Given the description of an element on the screen output the (x, y) to click on. 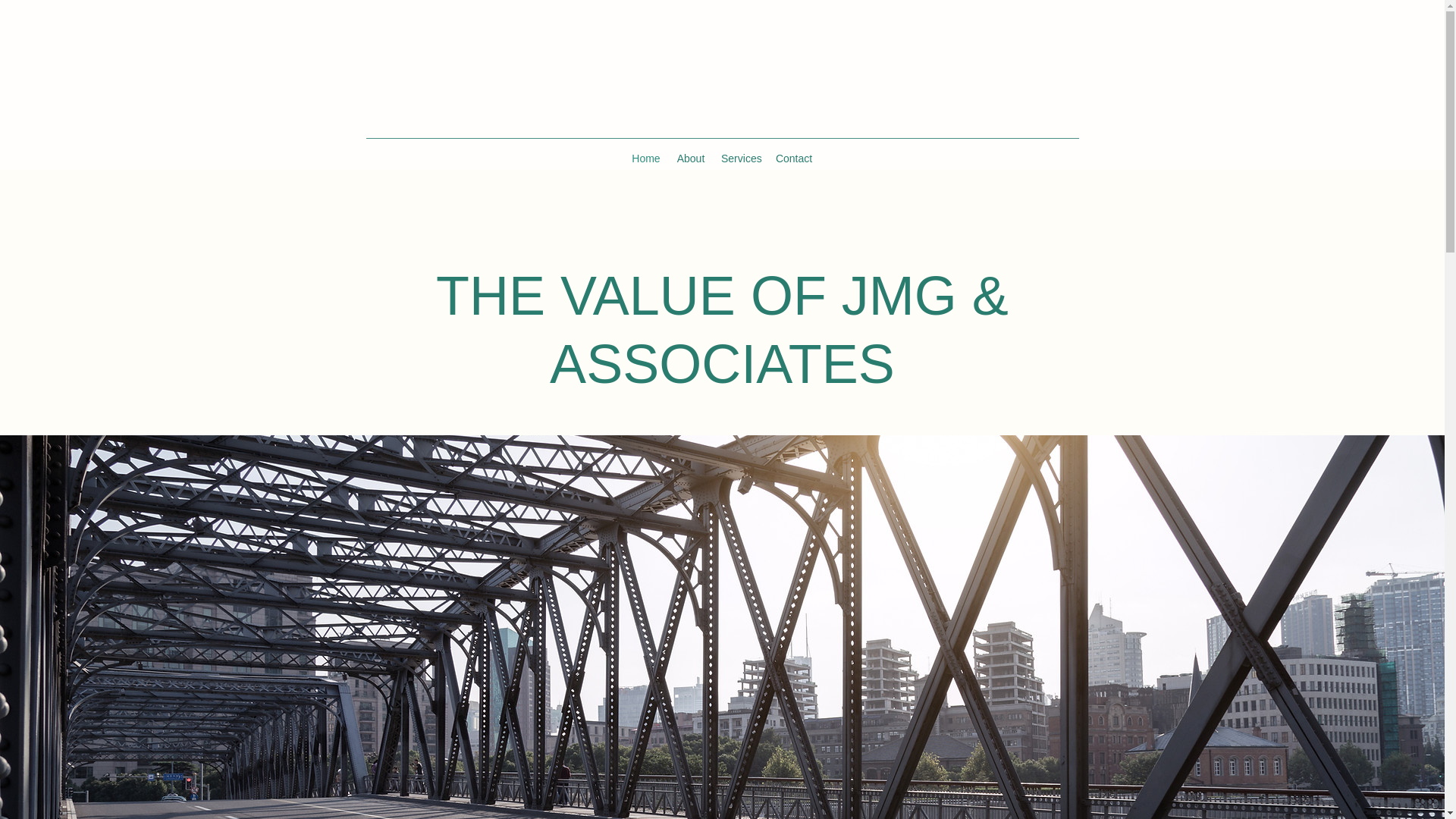
Services (740, 158)
About (690, 158)
Contact (794, 158)
Home (646, 158)
